Given the description of an element on the screen output the (x, y) to click on. 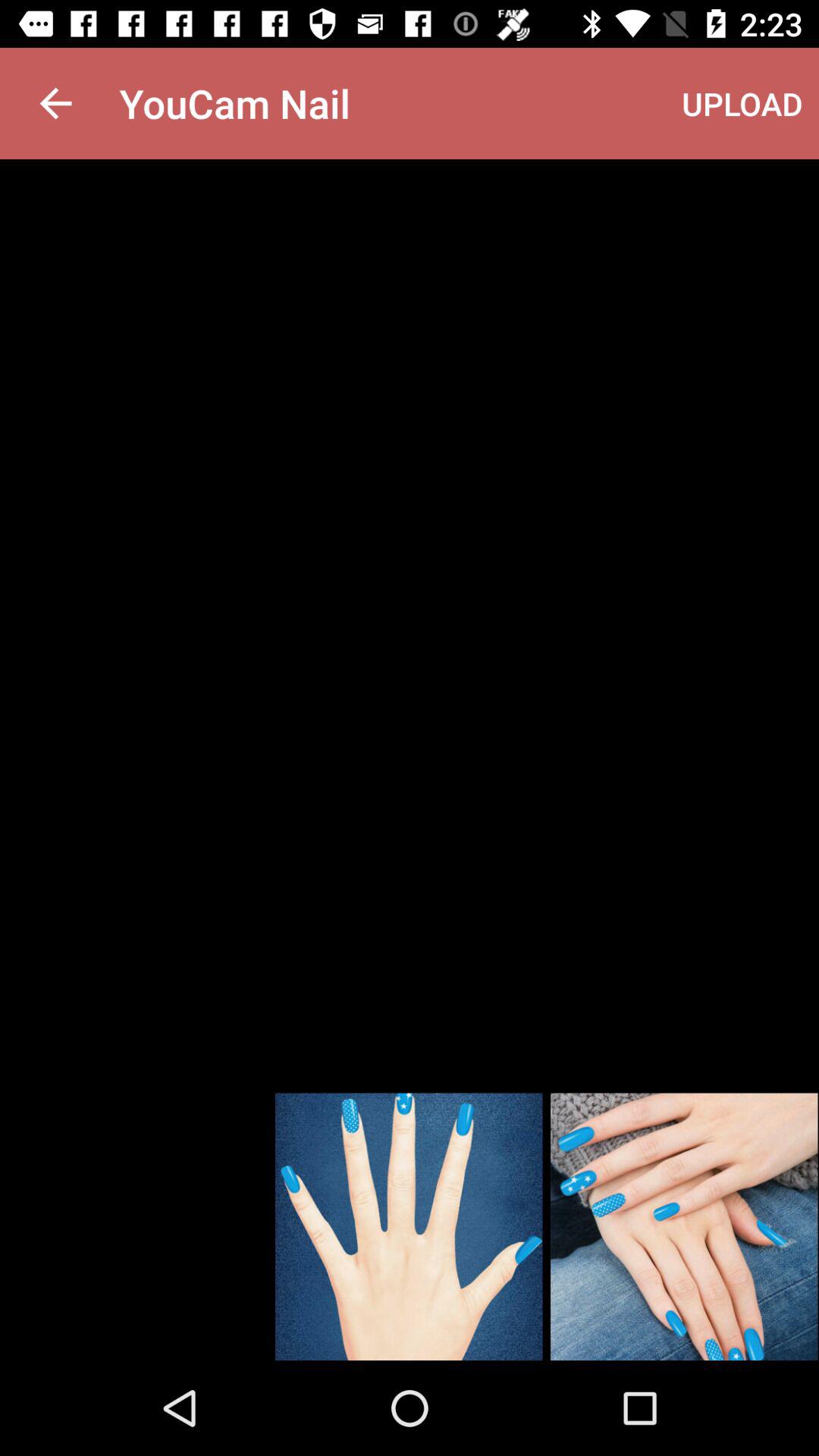
turn on the item next to youcam nail app (55, 103)
